Given the description of an element on the screen output the (x, y) to click on. 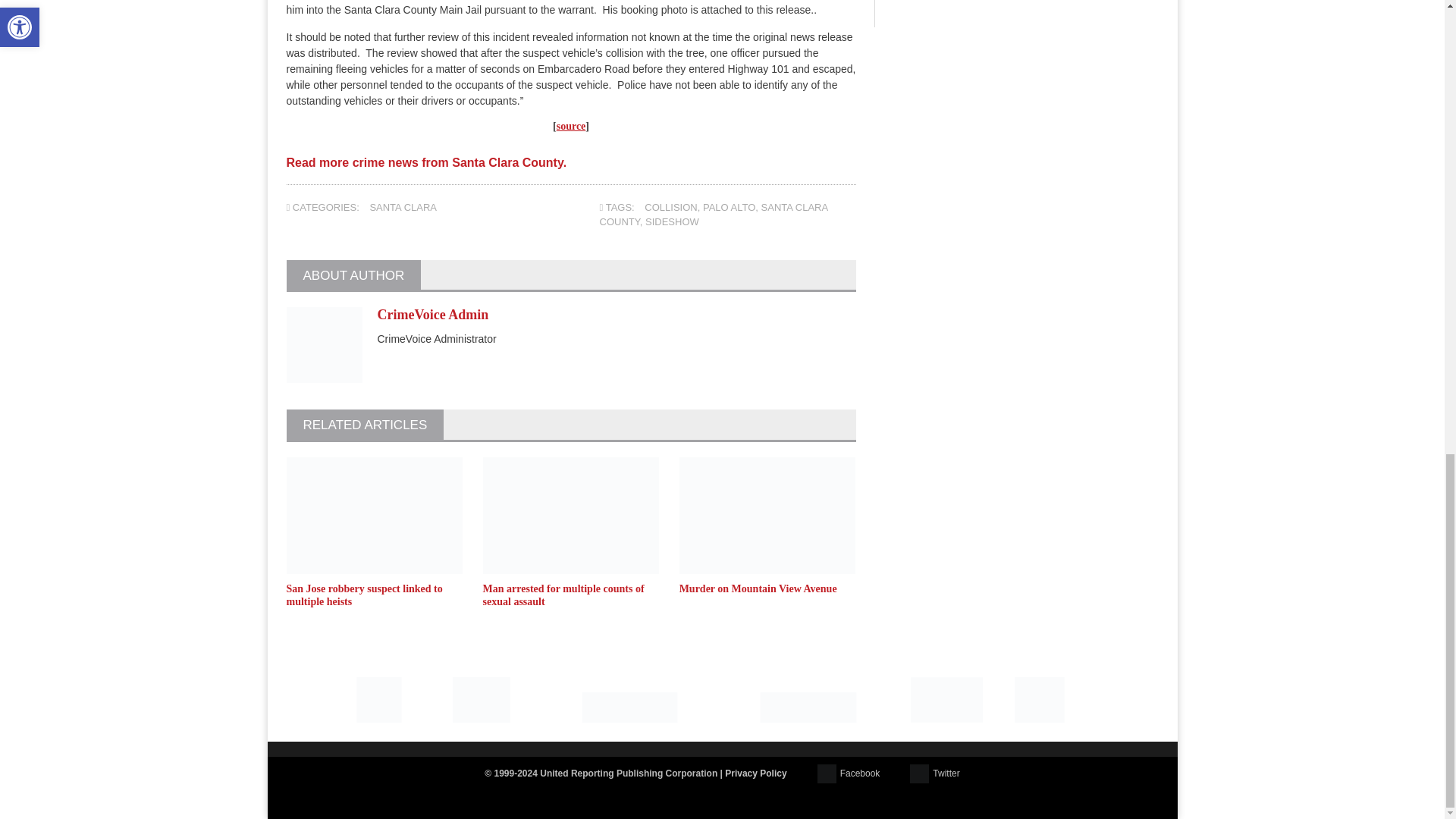
SIDESHOW (671, 221)
San Jose robbery suspect linked to multiple heists (364, 595)
Murder on Mountain View Avenue (758, 588)
Man arrested for multiple counts of sexual assault (564, 595)
PALO ALTO (729, 206)
COLLISION (671, 206)
source (571, 125)
SANTA CLARA COUNTY (713, 214)
CrimeVoice Admin (433, 314)
Read more crime news from Santa Clara County. (426, 168)
SANTA CLARA (402, 206)
